Given the description of an element on the screen output the (x, y) to click on. 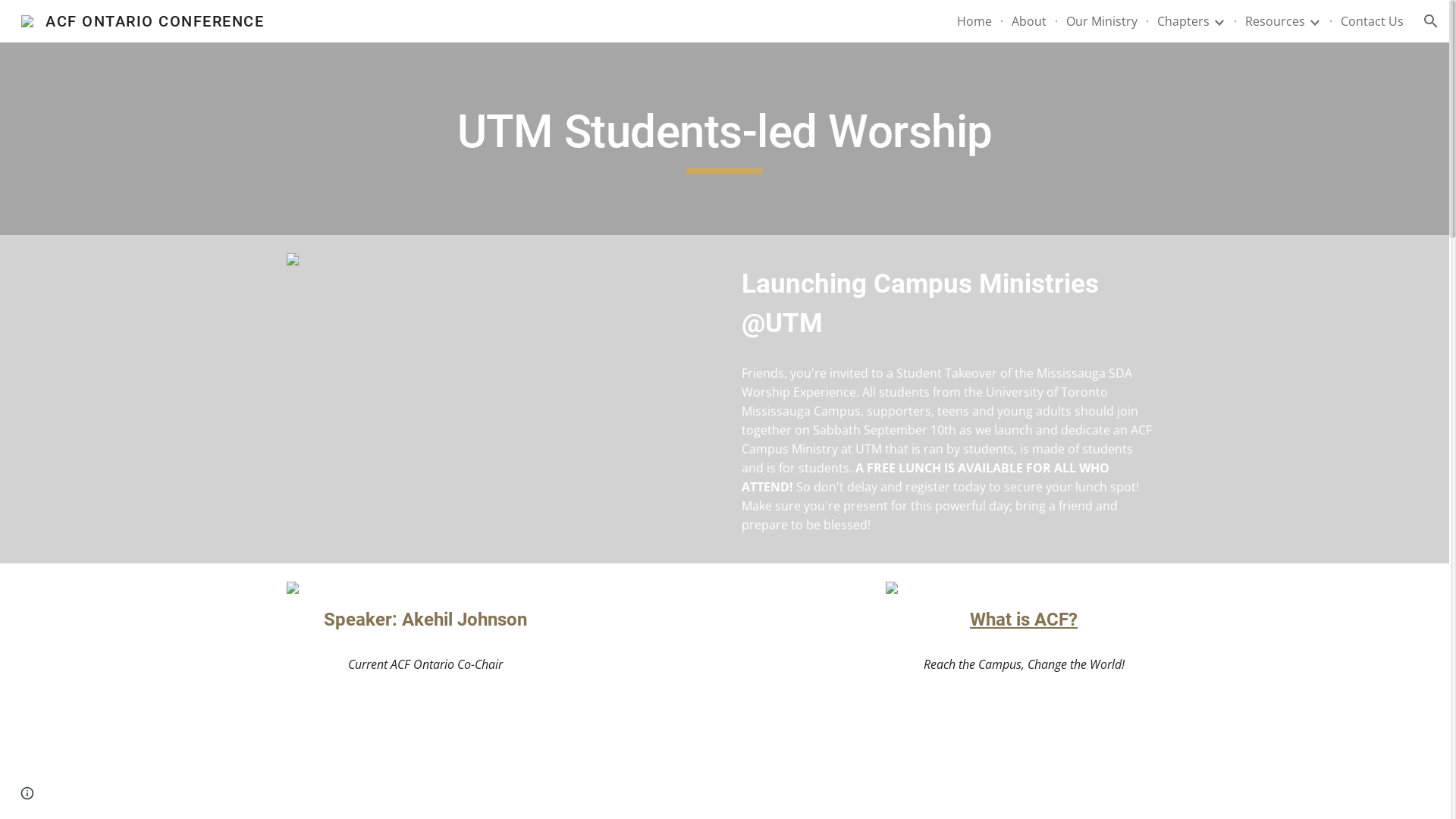
Expand/Collapse Element type: hover (1218, 20)
Our Ministry Element type: text (1101, 20)
Contact Us Element type: text (1371, 20)
About Element type: text (1028, 20)
Home Element type: text (974, 20)
Resources Element type: text (1275, 20)
Expand/Collapse Element type: hover (1314, 20)
ACF ONTARIO CONFERENCE Element type: text (142, 19)
Chapters Element type: text (1183, 20)
What is ACF? Element type: text (1023, 619)
